Given the description of an element on the screen output the (x, y) to click on. 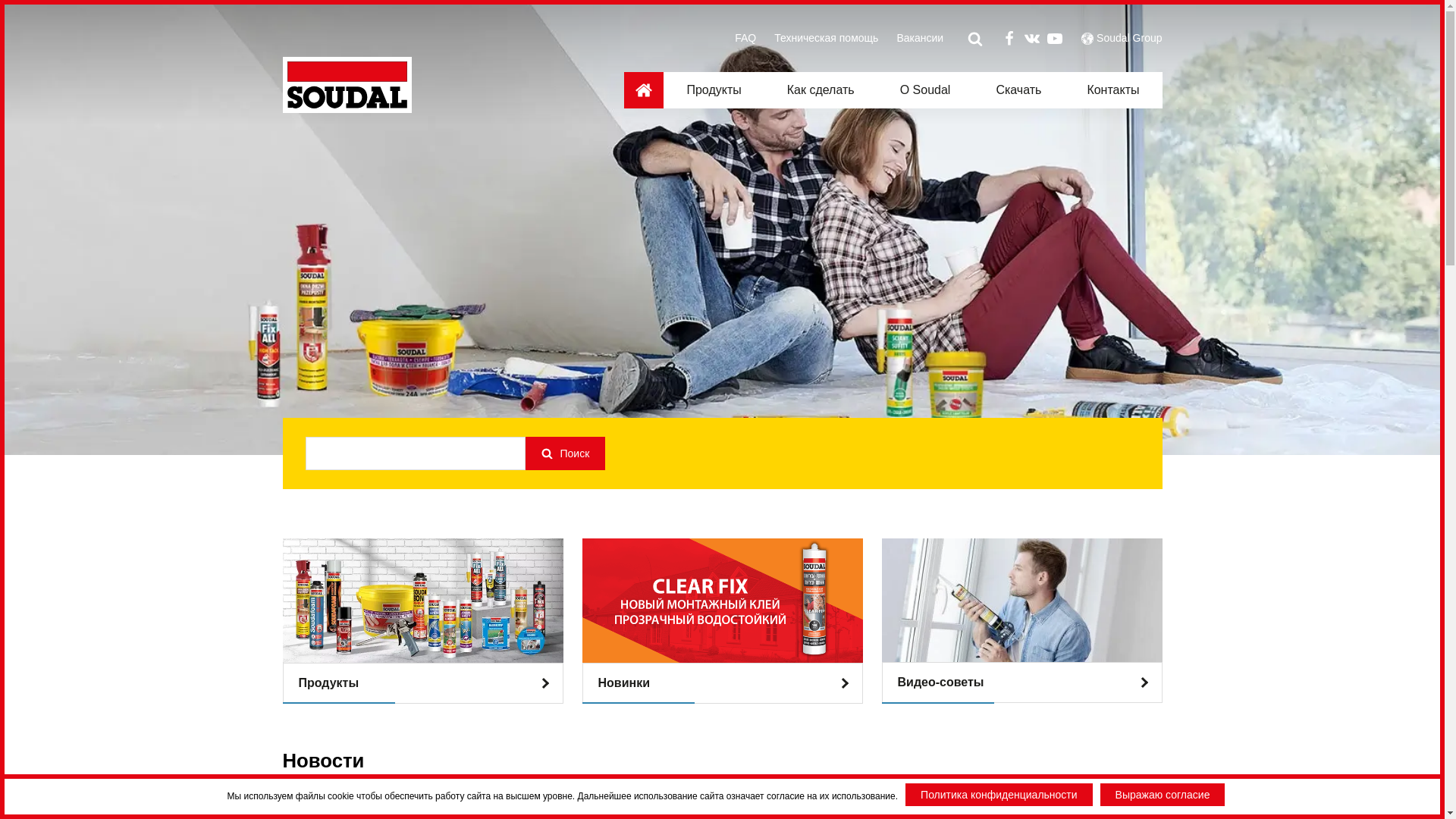
FAQ Element type: text (745, 37)
Soudal Group Element type: text (1128, 38)
